Given the description of an element on the screen output the (x, y) to click on. 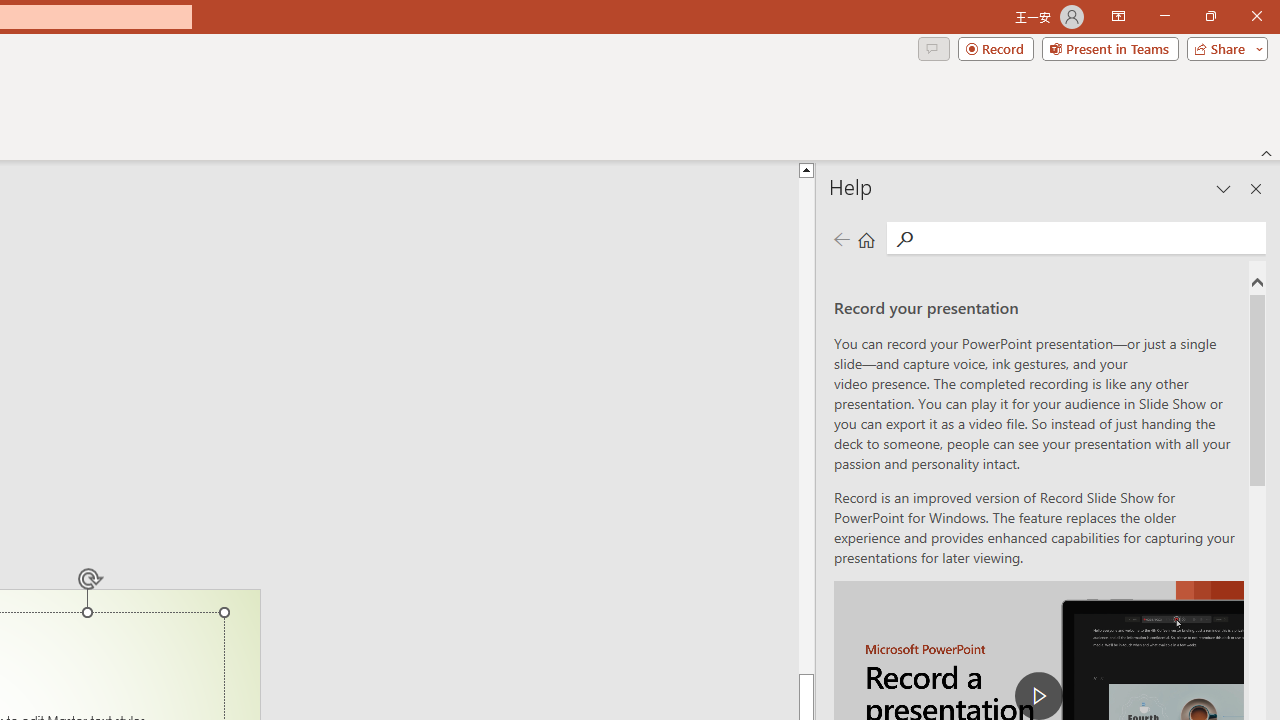
Previous page (841, 238)
play Record a Presentation (1038, 695)
